Given the description of an element on the screen output the (x, y) to click on. 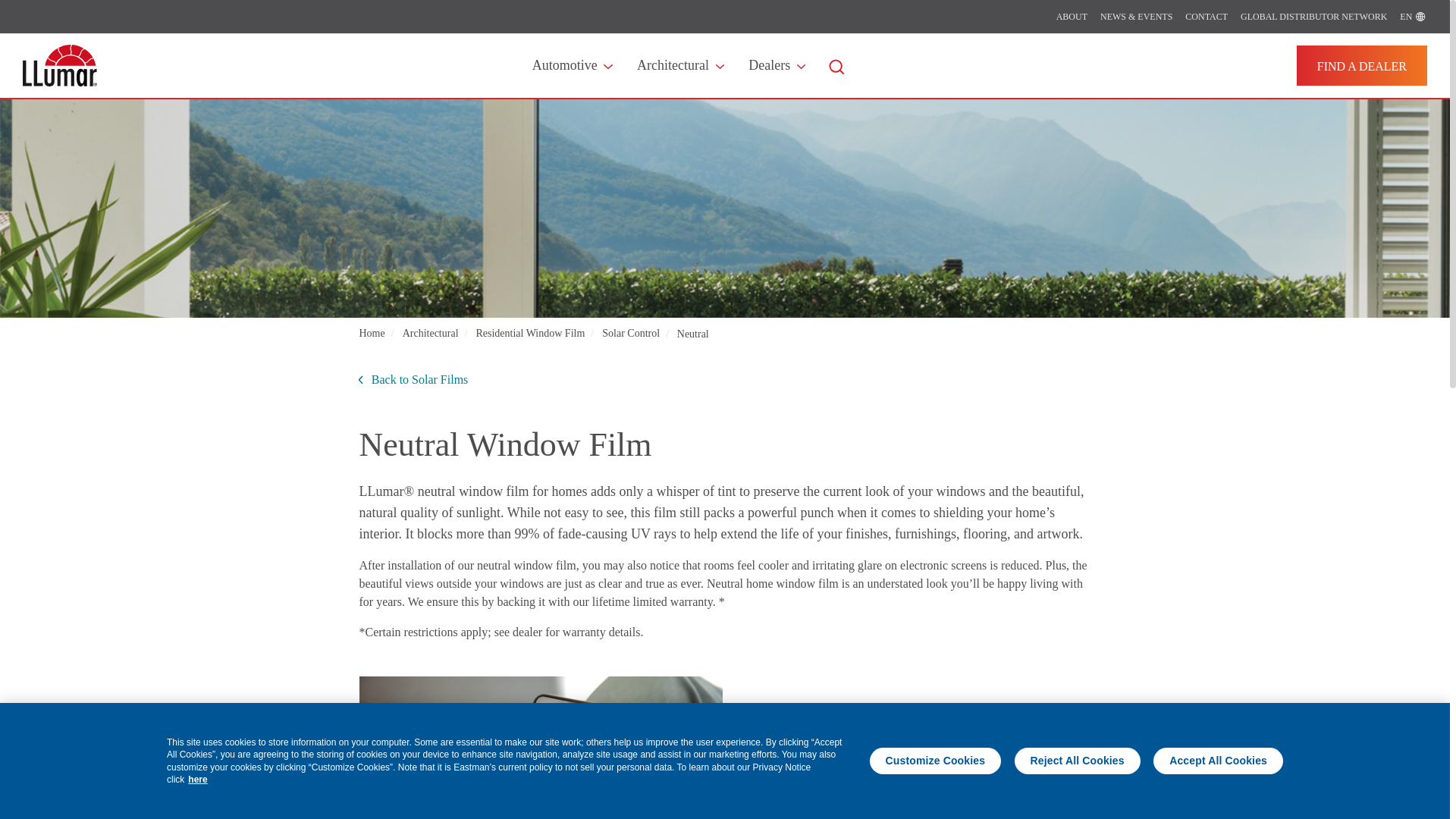
ABOUT (1072, 16)
CONTACT (1206, 16)
Automotive (570, 65)
llumar-logo.svg (60, 65)
GLOBAL DISTRIBUTOR NETWORK (1313, 16)
EN (1412, 16)
